Given the description of an element on the screen output the (x, y) to click on. 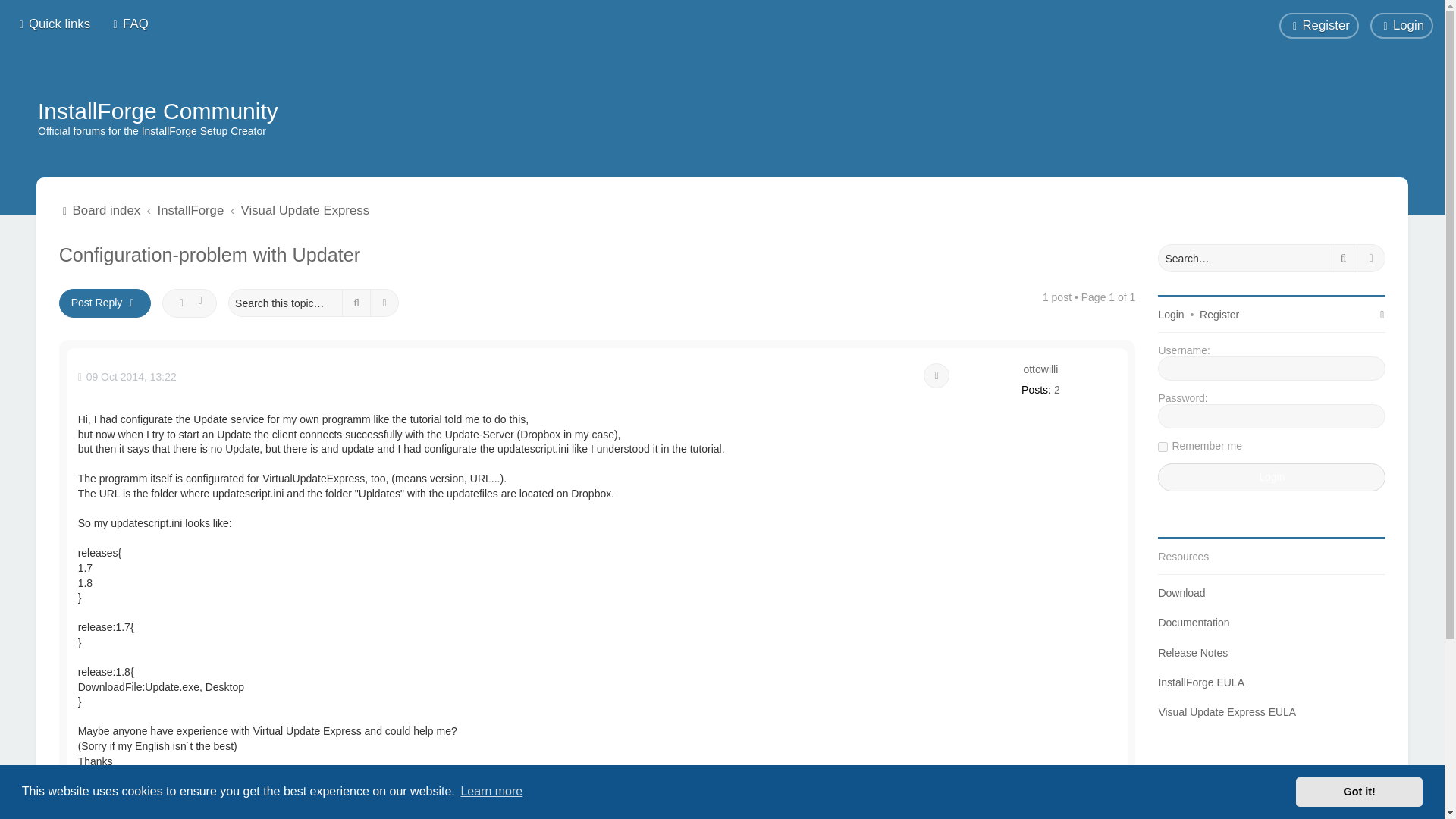
Visual Update Express (305, 210)
Board index (100, 210)
Register (1219, 314)
Post Reply (105, 303)
Board index (100, 210)
ottowilli (1040, 369)
Reply with quote (936, 376)
Search (1341, 257)
Post a reply (105, 303)
Search (356, 302)
Frequently Asked Questions (128, 24)
Advanced search (384, 302)
Configuration-problem with Updater (210, 255)
Register (1318, 25)
Advanced search (1371, 257)
